Given the description of an element on the screen output the (x, y) to click on. 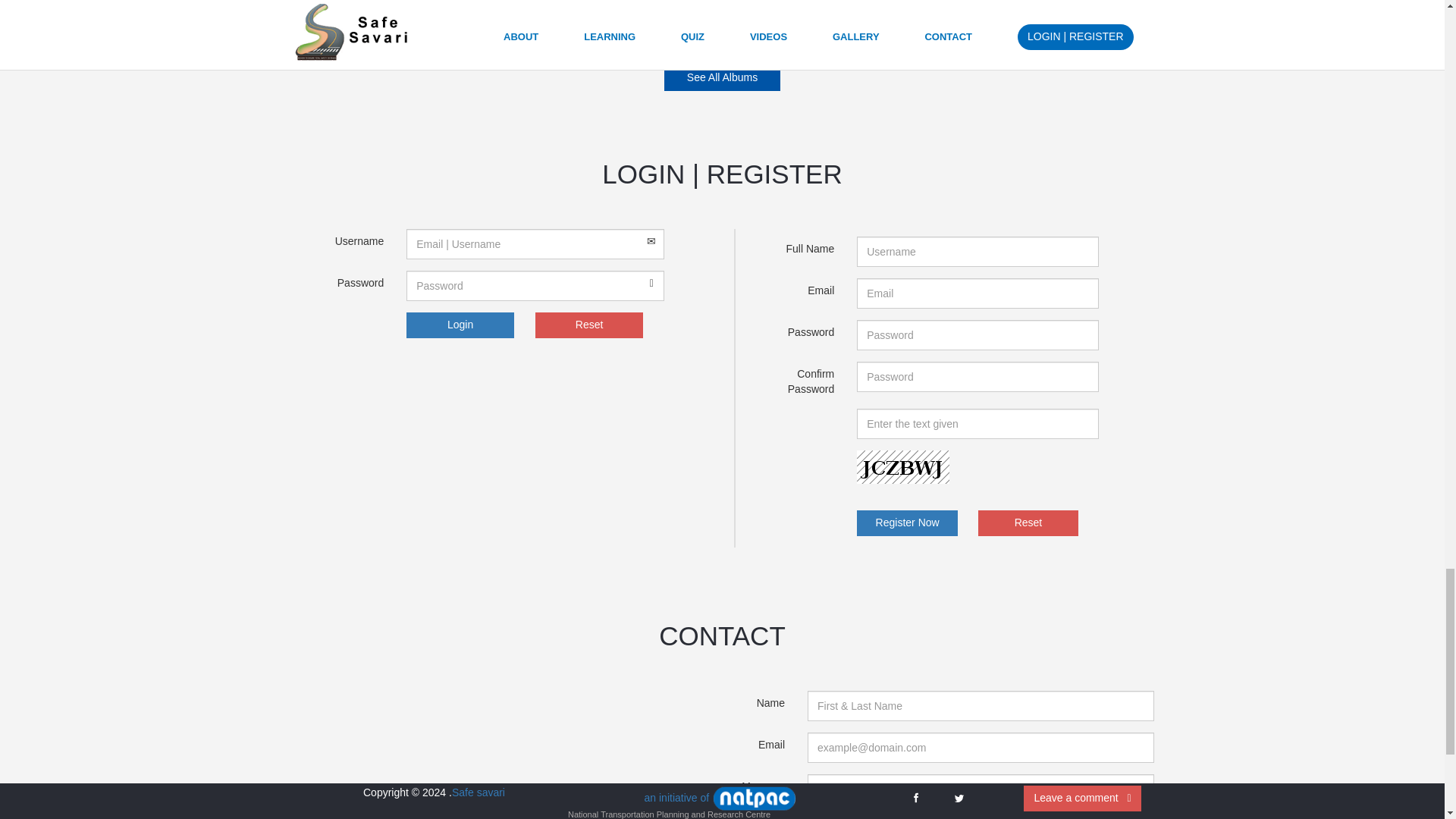
Register Now (907, 523)
See All Albums (721, 76)
Login (459, 325)
Login (459, 325)
Reset (589, 325)
Reset (1028, 523)
Global Road Safety Film Festival (389, 38)
Register Now (907, 523)
